Given the description of an element on the screen output the (x, y) to click on. 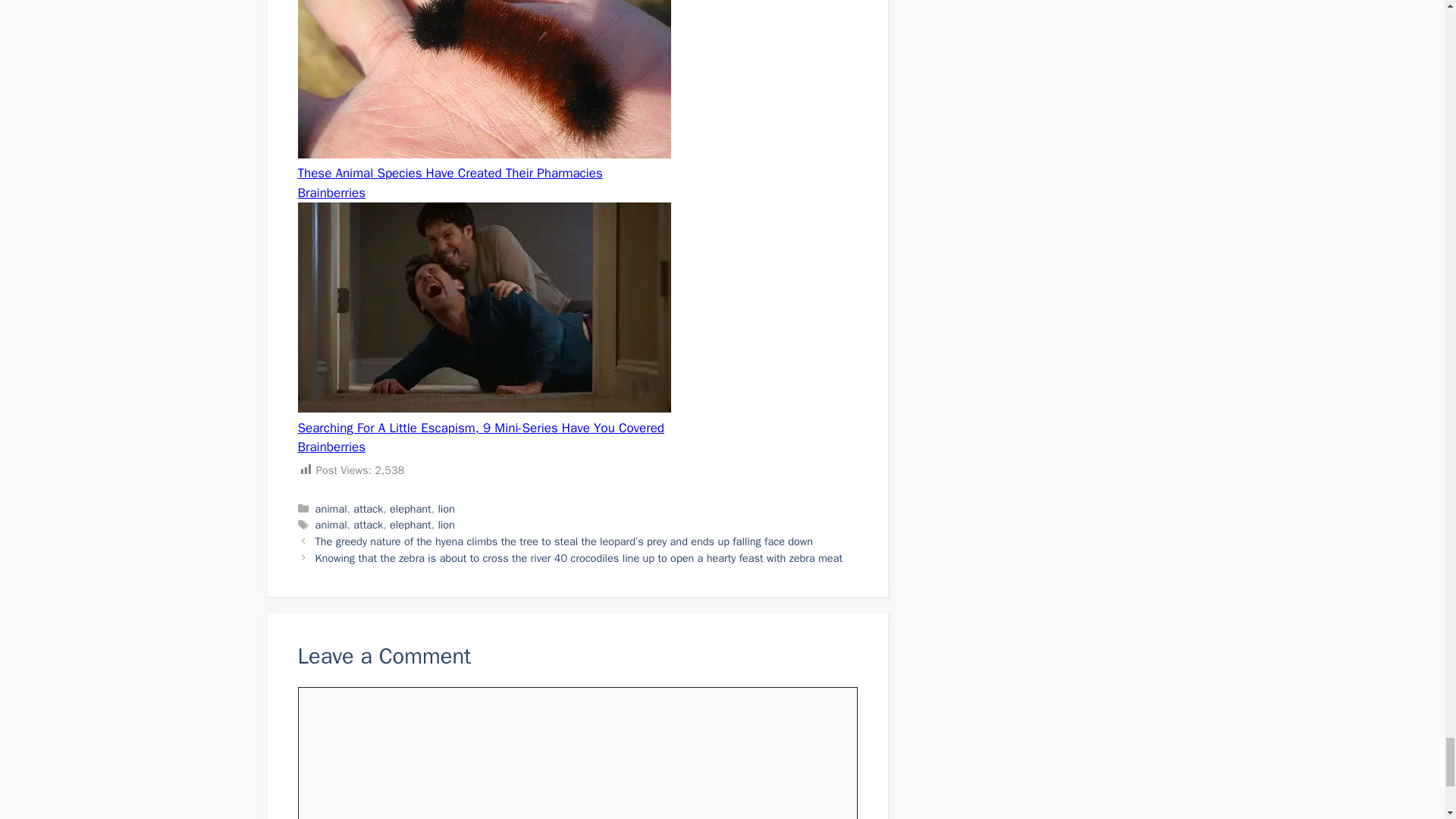
elephant (410, 524)
lion (446, 524)
animal (331, 508)
animal (331, 524)
elephant (410, 508)
attack (367, 524)
attack (367, 508)
lion (446, 508)
